Given the description of an element on the screen output the (x, y) to click on. 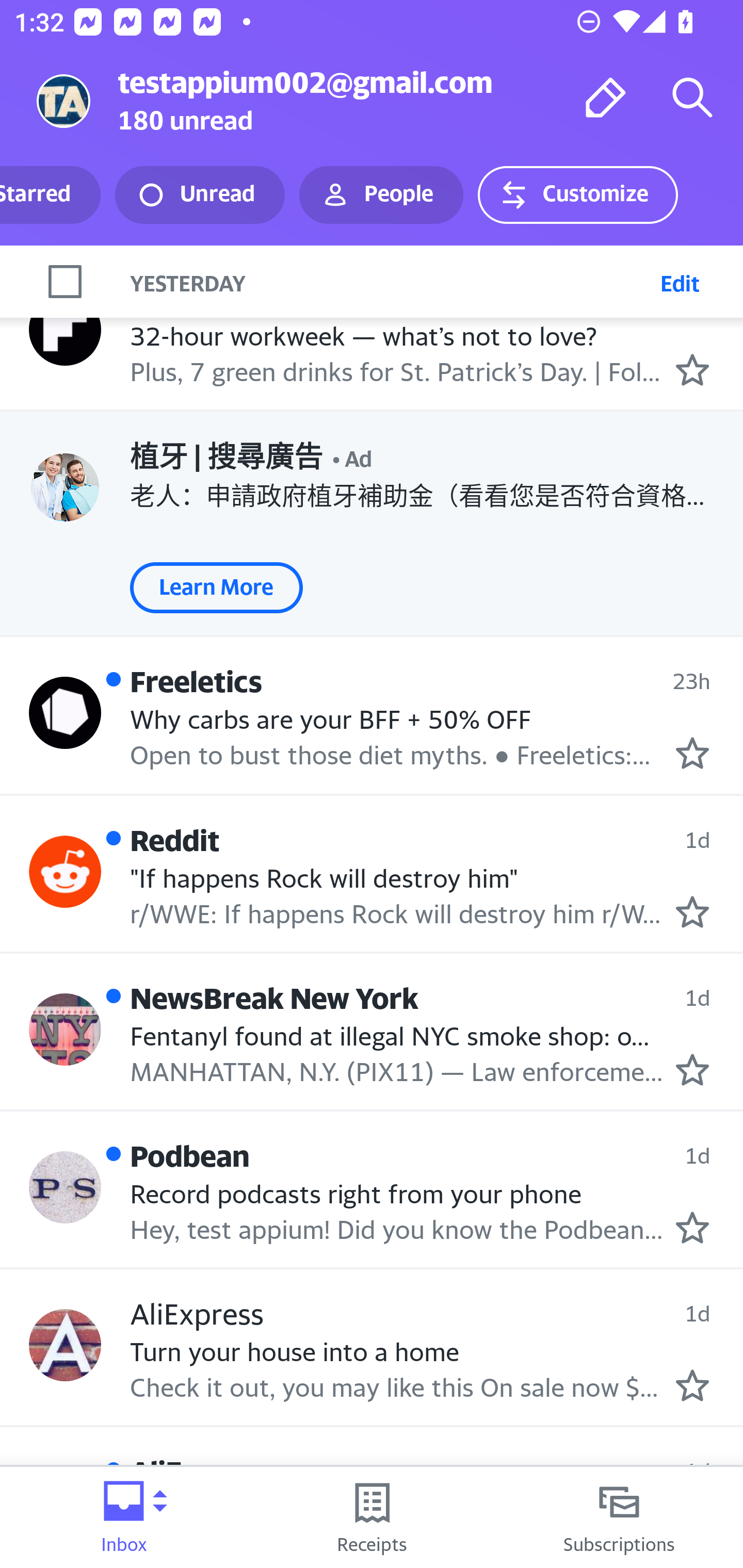
Compose (605, 97)
Search mail (692, 97)
Unread (199, 195)
People (381, 195)
Customize (577, 195)
Mark as starred. (692, 369)
Profile
Freeletics (64, 713)
Mark as starred. (692, 753)
Profile
Reddit (64, 871)
Mark as starred. (692, 911)
Profile
NewsBreak New York (64, 1030)
Mark as starred. (692, 1070)
Profile
Podbean (64, 1186)
Mark as starred. (692, 1226)
Profile
AliExpress (64, 1345)
Mark as starred. (692, 1385)
Inbox Folder picker (123, 1517)
Receipts (371, 1517)
Subscriptions (619, 1517)
